Given the description of an element on the screen output the (x, y) to click on. 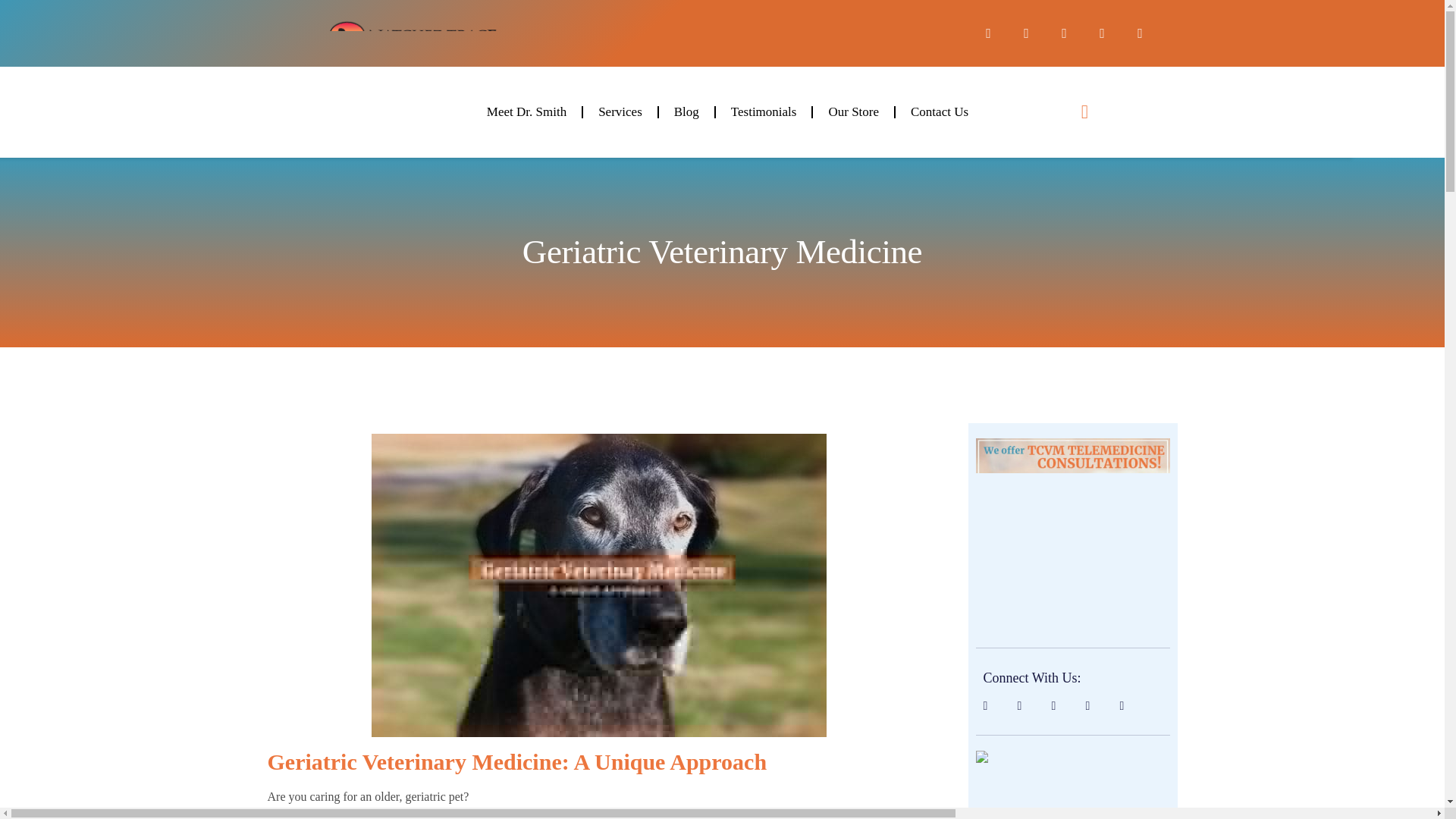
Services (620, 112)
Blog (686, 112)
Meet Dr. Smith (525, 112)
